Given the description of an element on the screen output the (x, y) to click on. 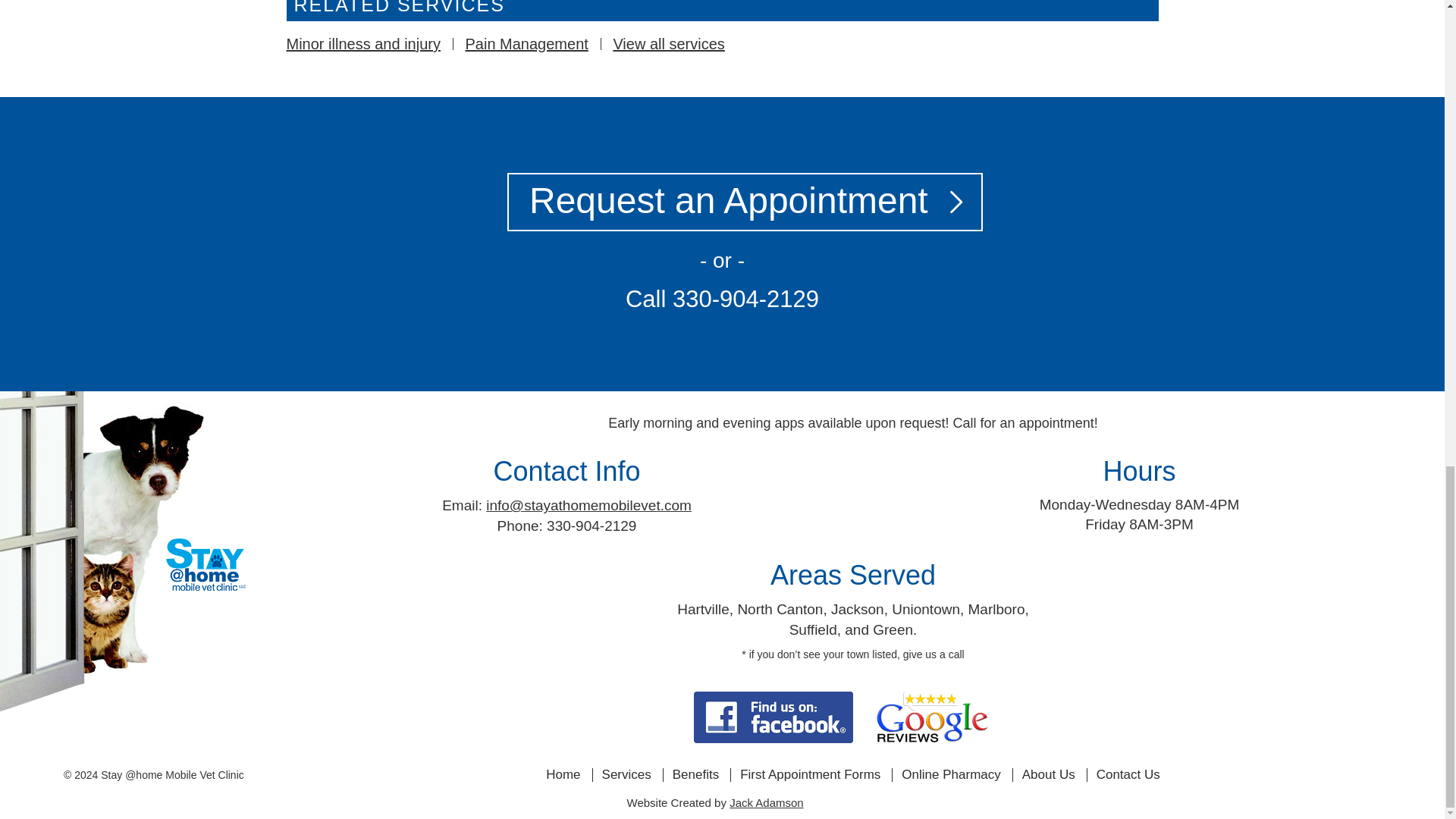
Pain Management (526, 44)
View all services (667, 44)
Home (562, 775)
About Us (1048, 775)
Contact Us (1128, 775)
Online Pharmacy (950, 775)
First Appointment Forms (809, 775)
Minor illness and injury (363, 44)
Jack Adamson (766, 802)
Services (626, 775)
Request an Appointment (721, 219)
Benefits (695, 775)
